Given the description of an element on the screen output the (x, y) to click on. 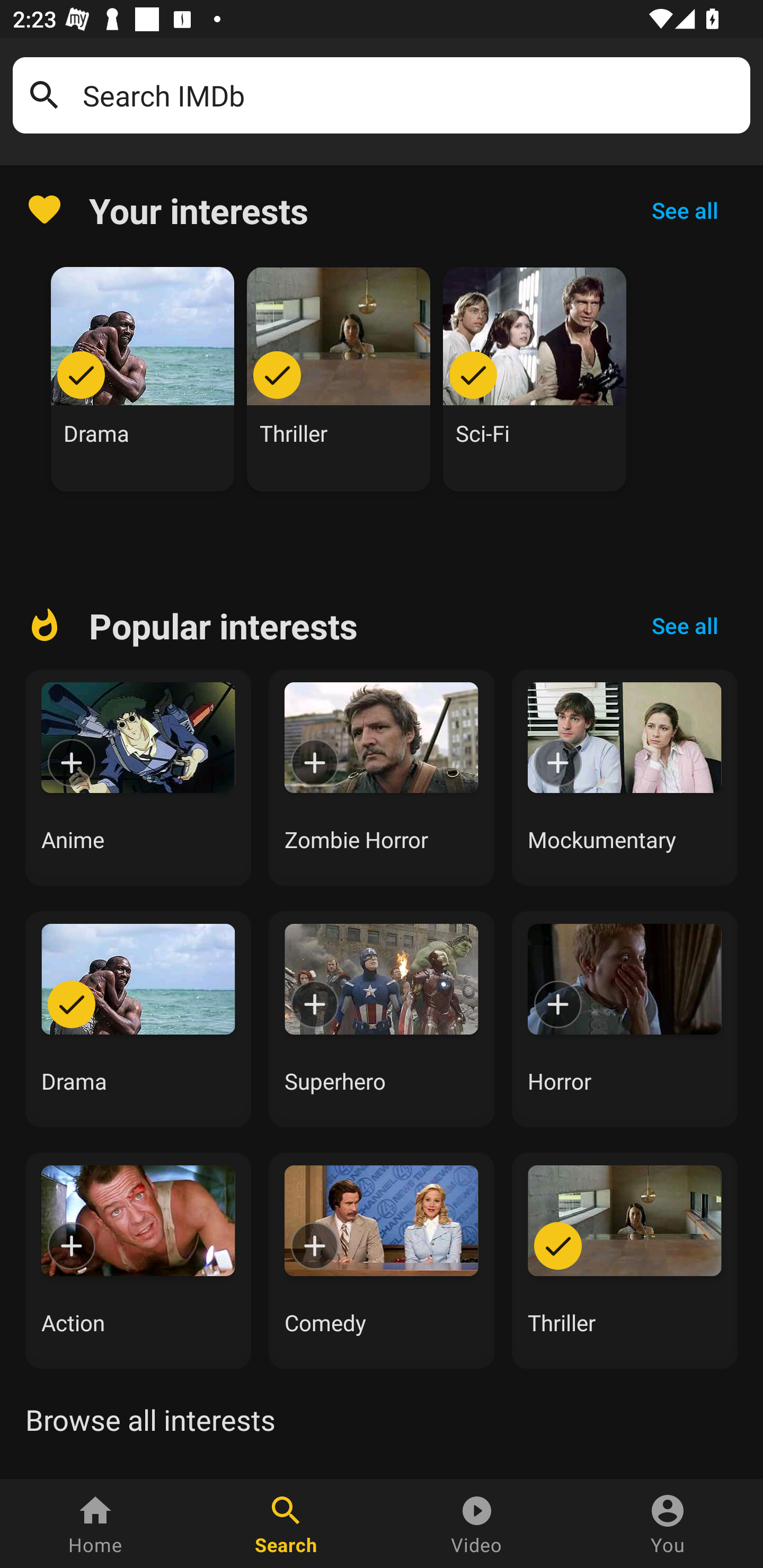
Search IMDb (410, 95)
See all (684, 209)
Drama (142, 379)
Thriller (338, 379)
Sci-Fi (534, 379)
See all (684, 625)
Anime (138, 777)
Zombie Horror (381, 777)
Mockumentary (624, 777)
Drama (138, 1018)
Superhero (381, 1018)
Horror (624, 1018)
Action (138, 1260)
Comedy (381, 1260)
Thriller (624, 1260)
Browse all interests (150, 1419)
Home (95, 1523)
Video (476, 1523)
You (667, 1523)
